Given the description of an element on the screen output the (x, y) to click on. 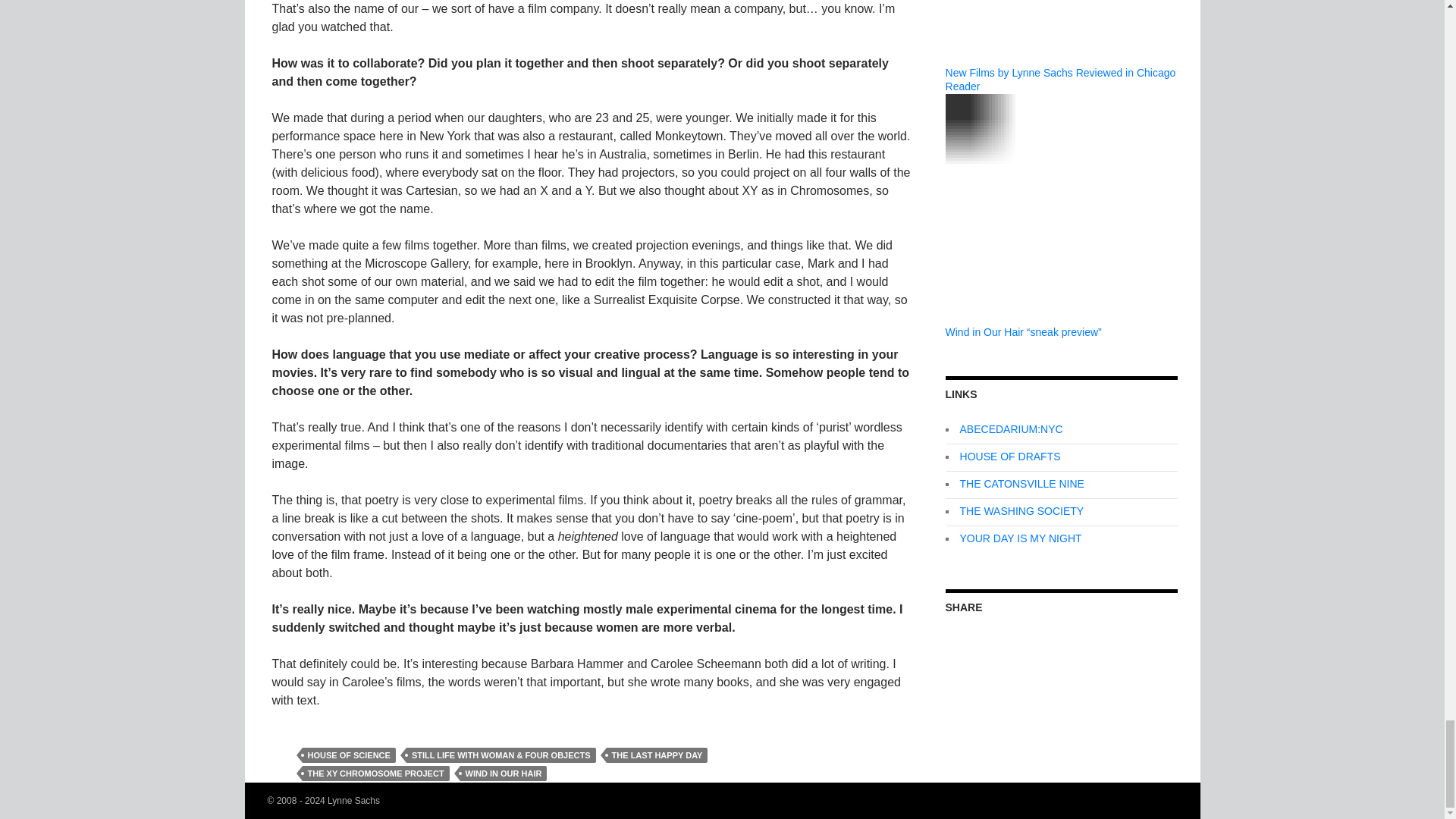
HOUSE OF SCIENCE (347, 754)
THE LAST HAPPY DAY (657, 754)
THE XY CHROMOSOME PROJECT (374, 773)
WIND IN OUR HAIR (503, 773)
